Given the description of an element on the screen output the (x, y) to click on. 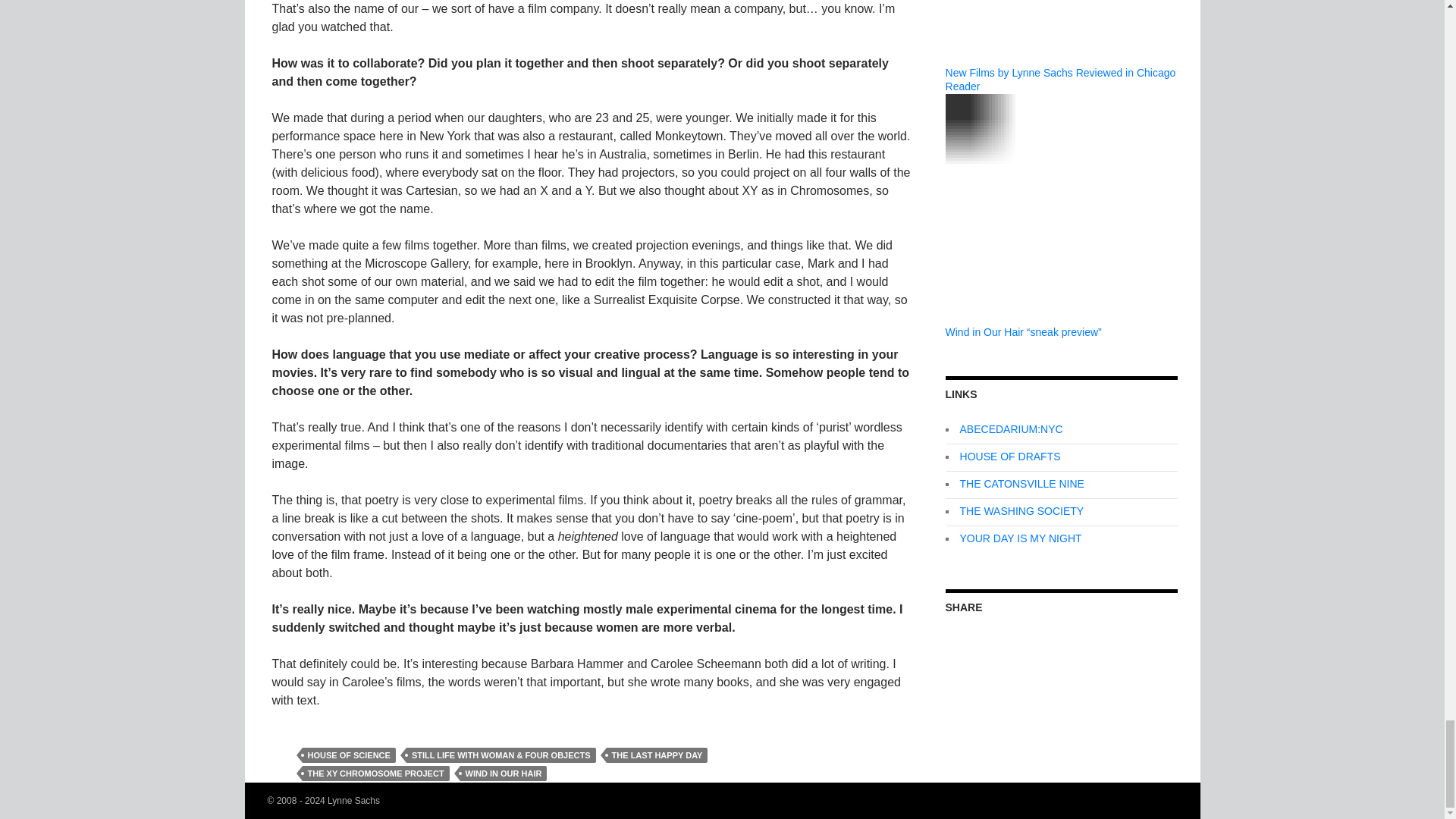
HOUSE OF SCIENCE (347, 754)
THE LAST HAPPY DAY (657, 754)
THE XY CHROMOSOME PROJECT (374, 773)
WIND IN OUR HAIR (503, 773)
